Given the description of an element on the screen output the (x, y) to click on. 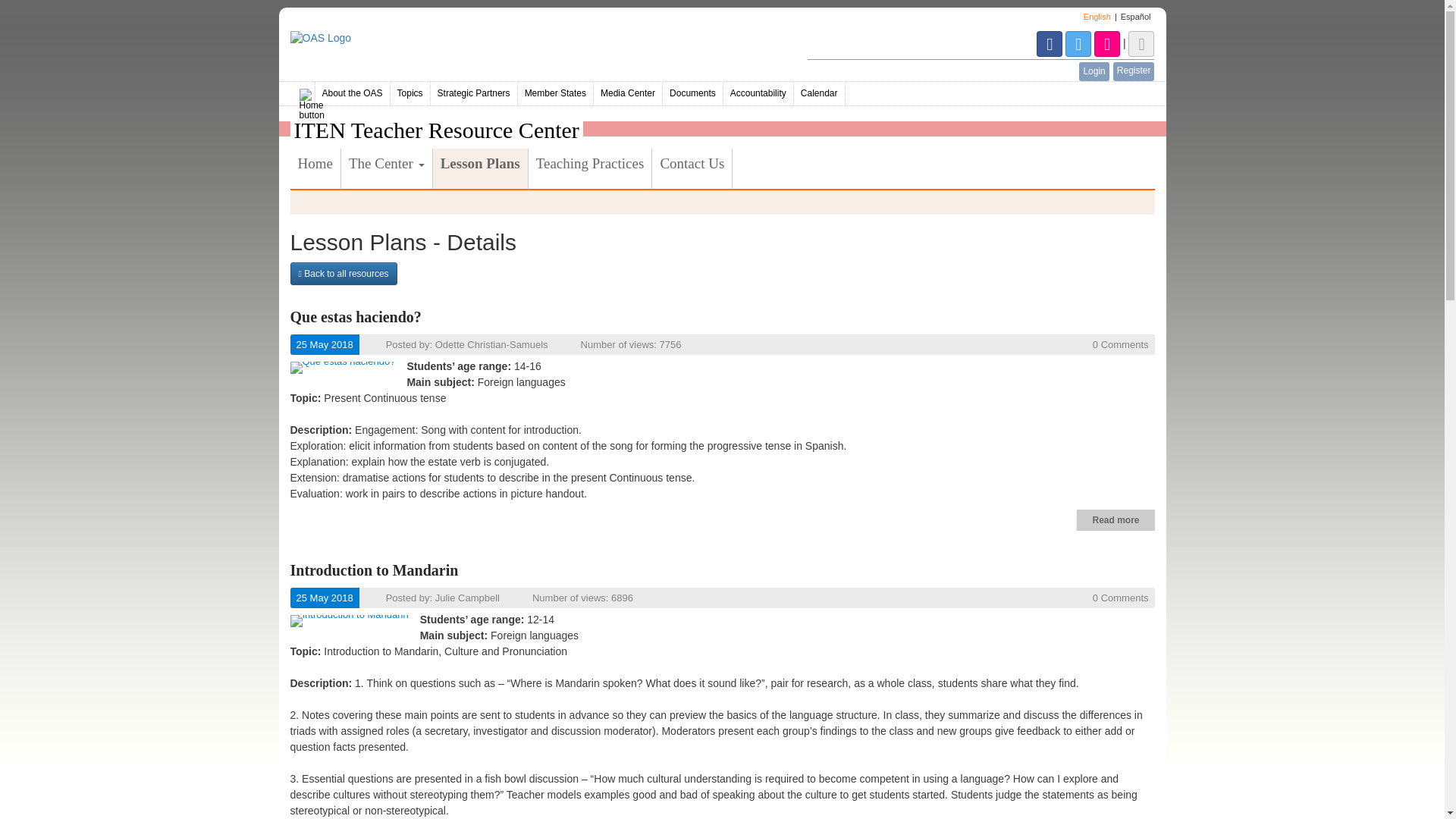
Flickr (1108, 42)
About the OAS (352, 93)
Organization of American States (541, 38)
Register (1133, 71)
User (1141, 42)
Register (1133, 71)
Topics (410, 93)
Login (1093, 70)
Login (1093, 70)
Facebook (1050, 42)
Twitter (1079, 42)
